Given the description of an element on the screen output the (x, y) to click on. 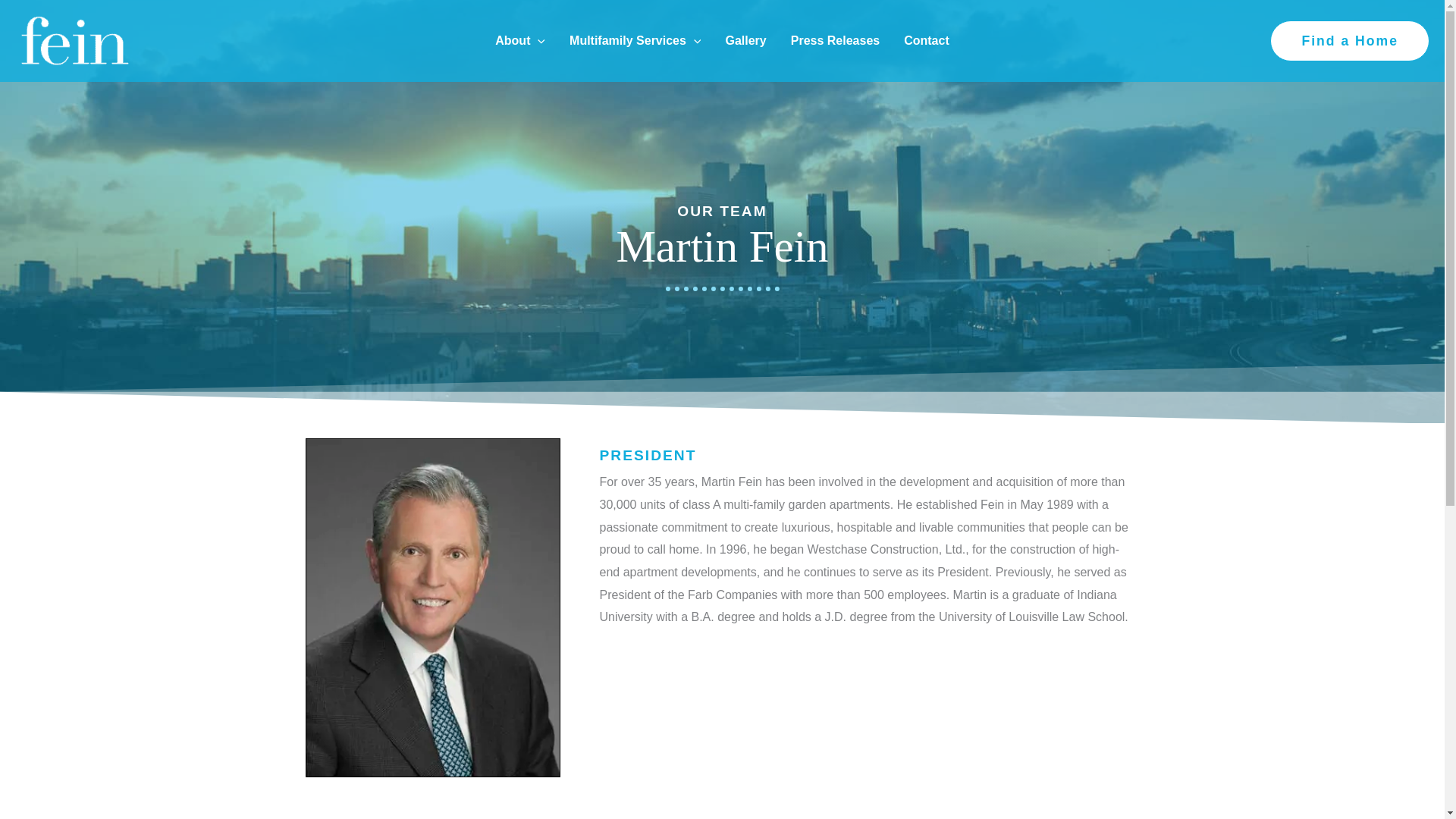
Find a Home (1349, 41)
Press Releases (834, 40)
Gallery (745, 40)
Contact (925, 40)
Multifamily Services (635, 40)
About (520, 40)
